Given the description of an element on the screen output the (x, y) to click on. 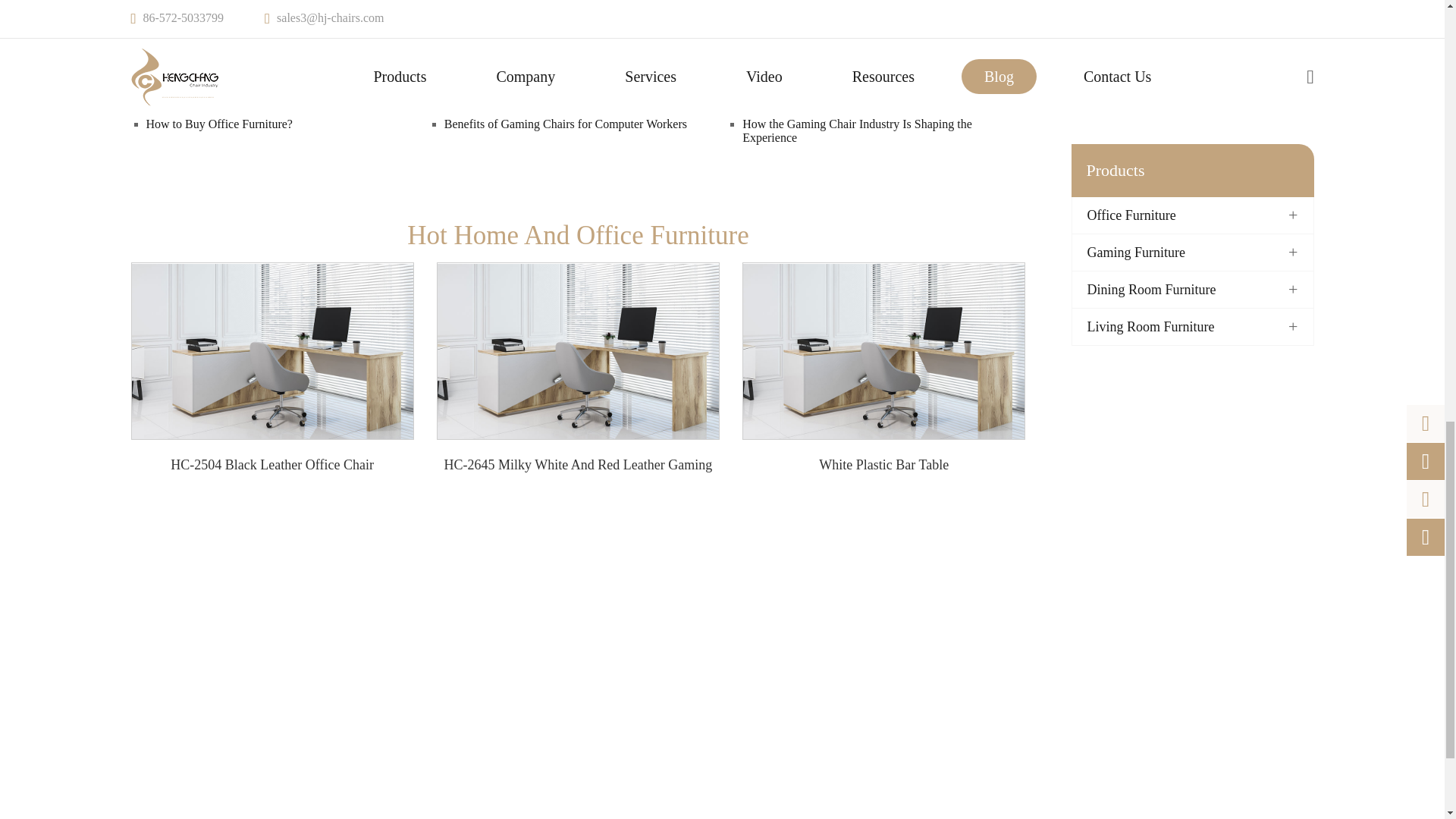
HC-2504 Black Leather Office Chair (272, 351)
White Plastic Bar Table (883, 351)
HC-2645 Milky White And Red Leather Gaming Chair (578, 351)
